Given the description of an element on the screen output the (x, y) to click on. 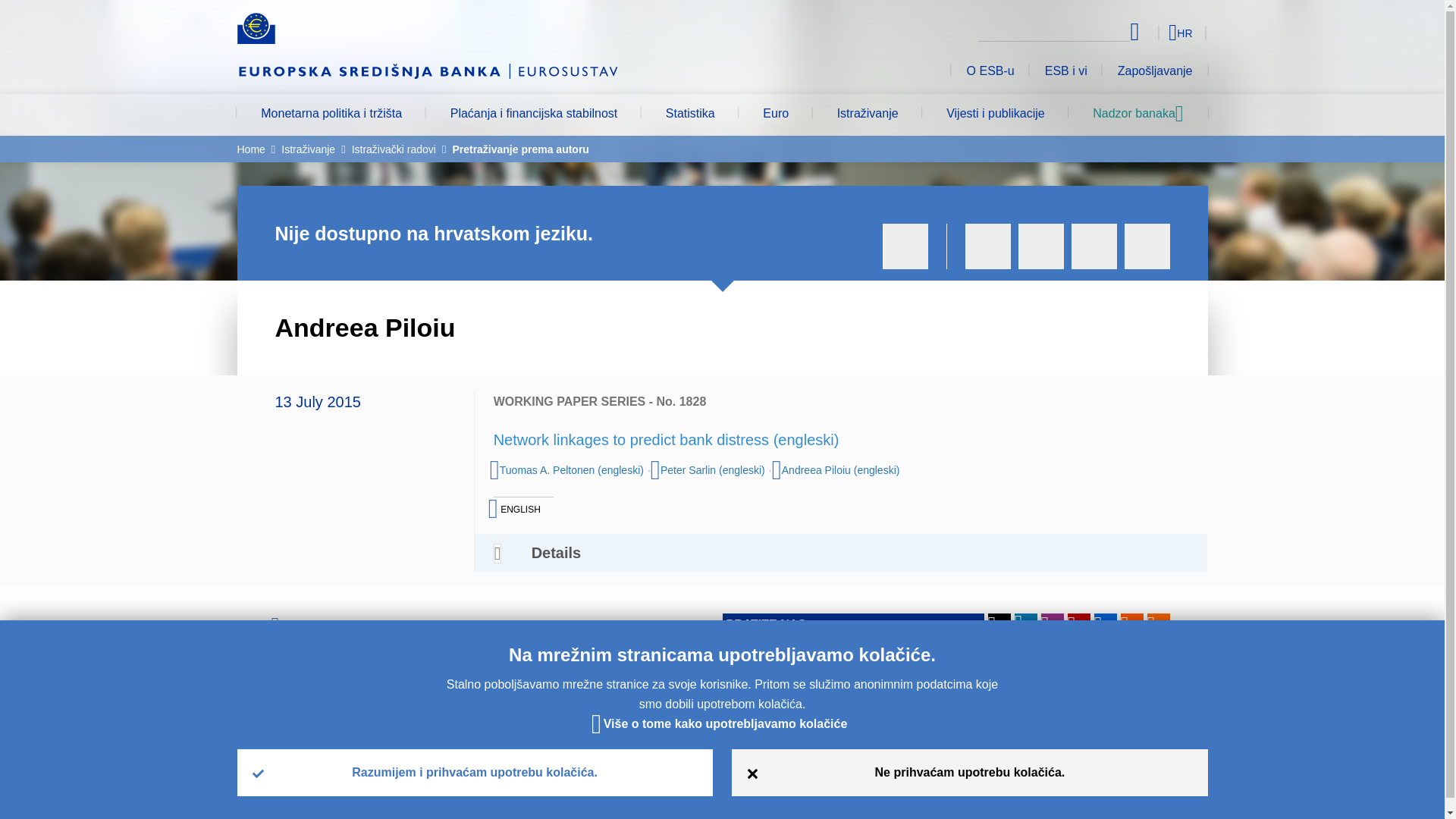
Select language (1153, 32)
